Given the description of an element on the screen output the (x, y) to click on. 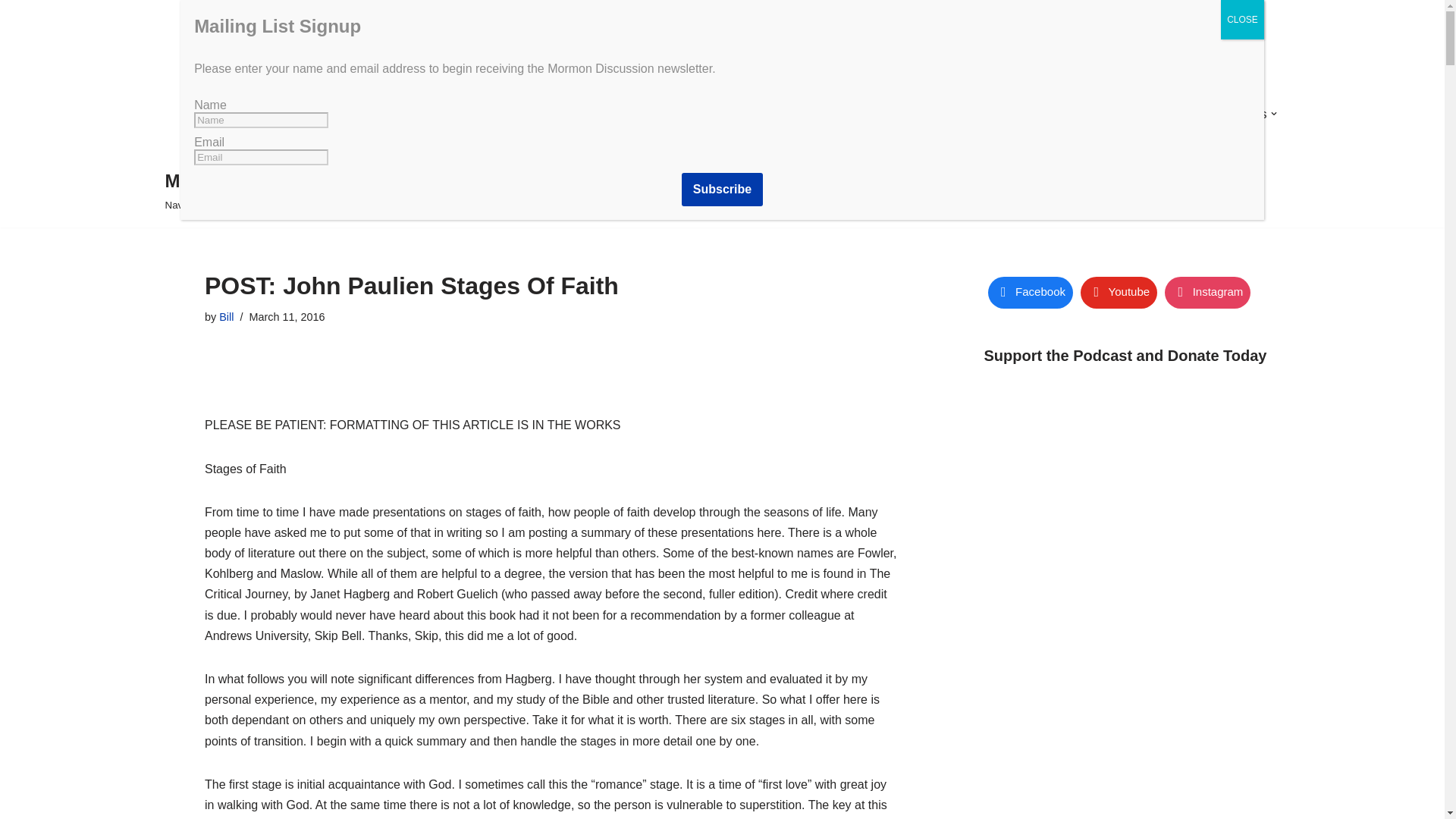
Posts by Bill (225, 316)
Helpful Resources (1216, 114)
Facebook (1029, 292)
Donate (898, 114)
Home (590, 114)
Instagram (1207, 292)
Skip to content (11, 31)
Instagram (1207, 292)
Gift Shop (975, 114)
Episode Archive (815, 114)
Bill (225, 316)
Youtube (1118, 292)
Mormon Discussions (683, 114)
Youtube (1118, 292)
